Given the description of an element on the screen output the (x, y) to click on. 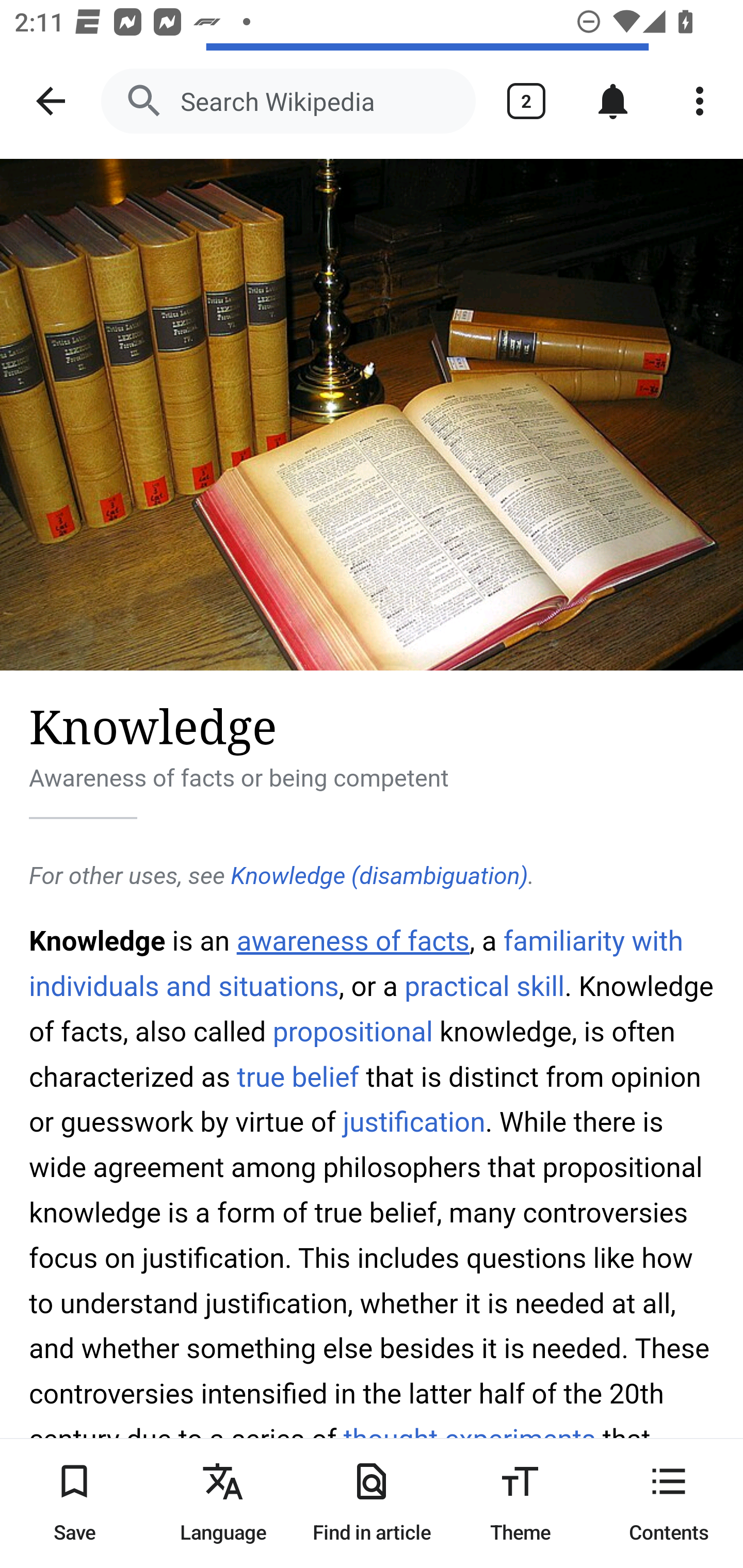
Show tabs 2 (525, 100)
Notifications (612, 100)
Navigate up (50, 101)
More options (699, 101)
Search Wikipedia (288, 100)
Image: Declarative knowledge (371, 414)
Knowledge (disambiguation) (378, 876)
familiarity with individuals and situations (356, 963)
awareness of facts (352, 940)
practical skill (484, 986)
propositional (352, 1031)
true (260, 1076)
belief (325, 1076)
justification (413, 1121)
Save (74, 1502)
Language (222, 1502)
Find in article (371, 1502)
Theme (519, 1502)
Contents (668, 1502)
